Given the description of an element on the screen output the (x, y) to click on. 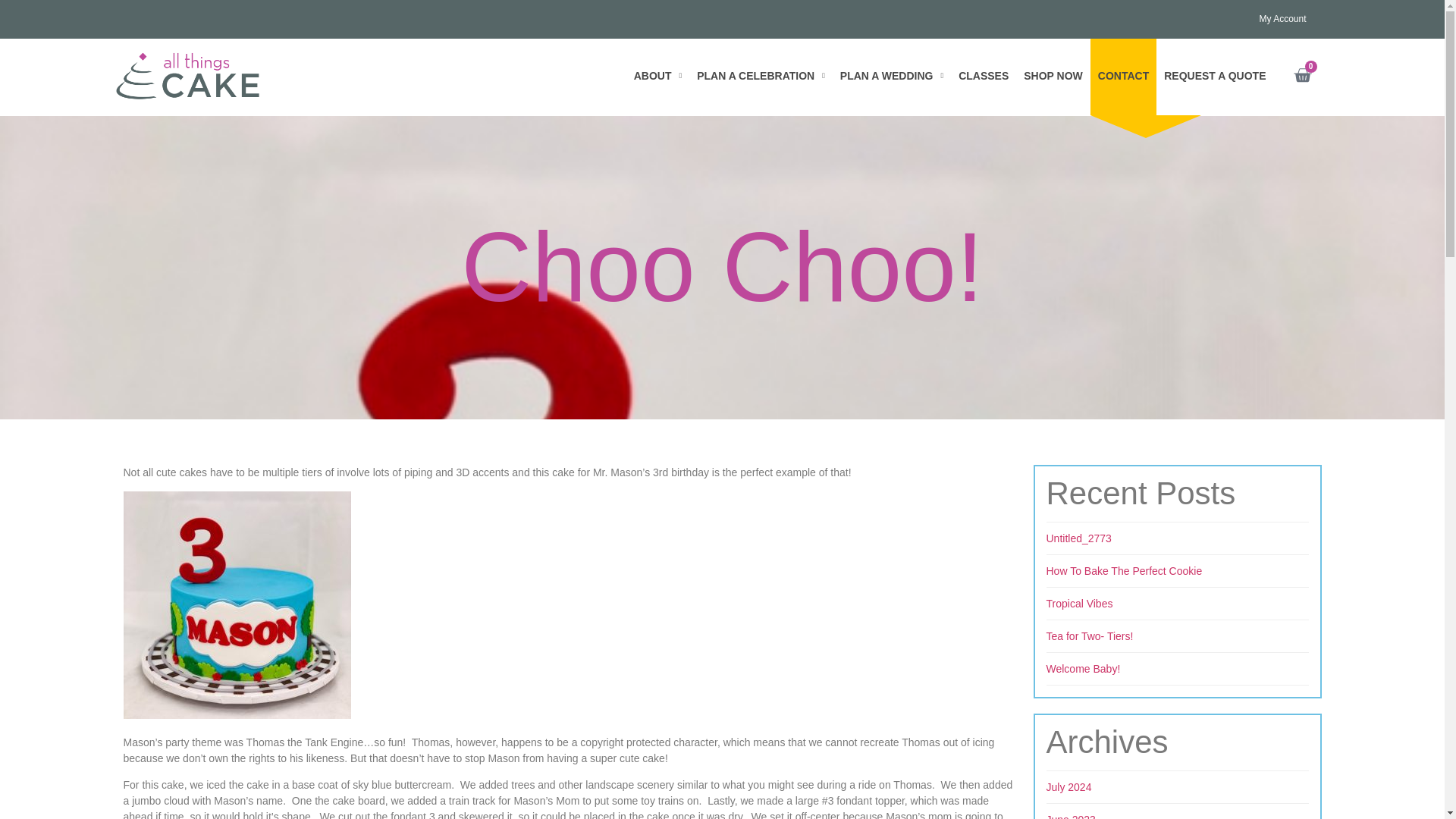
PLAN A WEDDING (891, 76)
My Account (1281, 2)
PLAN A CELEBRATION (760, 59)
